Given the description of an element on the screen output the (x, y) to click on. 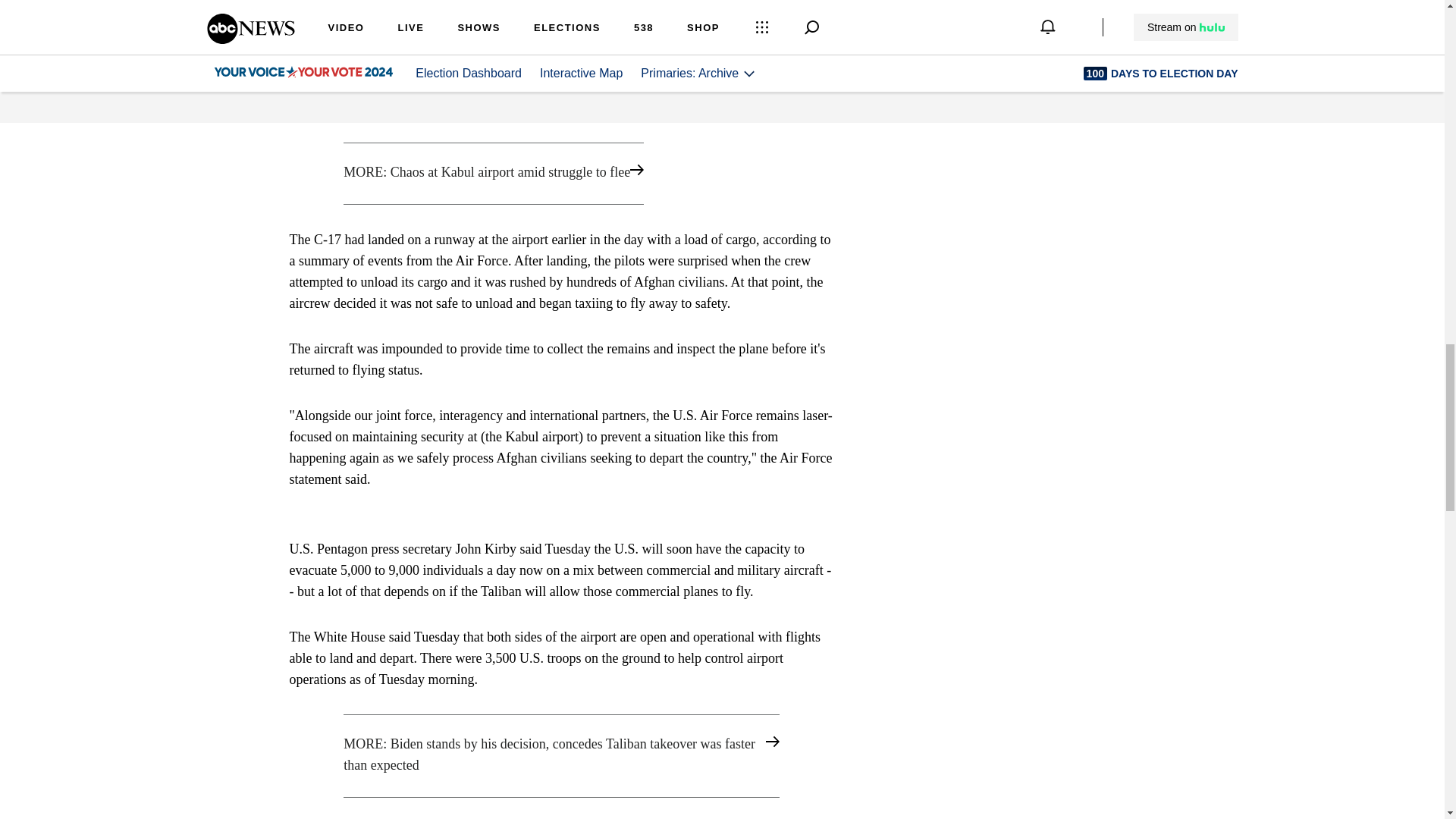
MORE: Chaos at Kabul airport amid struggle to flee (560, 173)
